Given the description of an element on the screen output the (x, y) to click on. 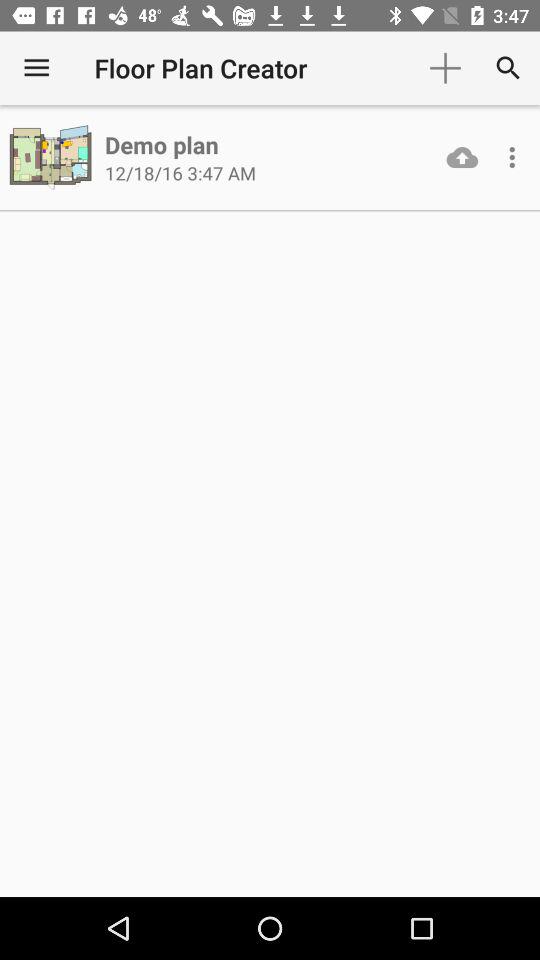
upload (462, 157)
